Given the description of an element on the screen output the (x, y) to click on. 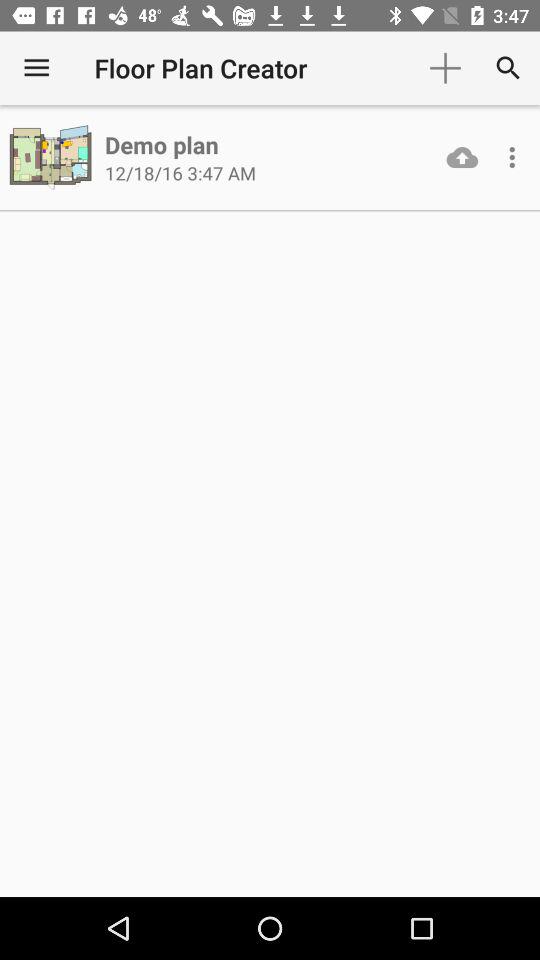
upload (462, 157)
